Given the description of an element on the screen output the (x, y) to click on. 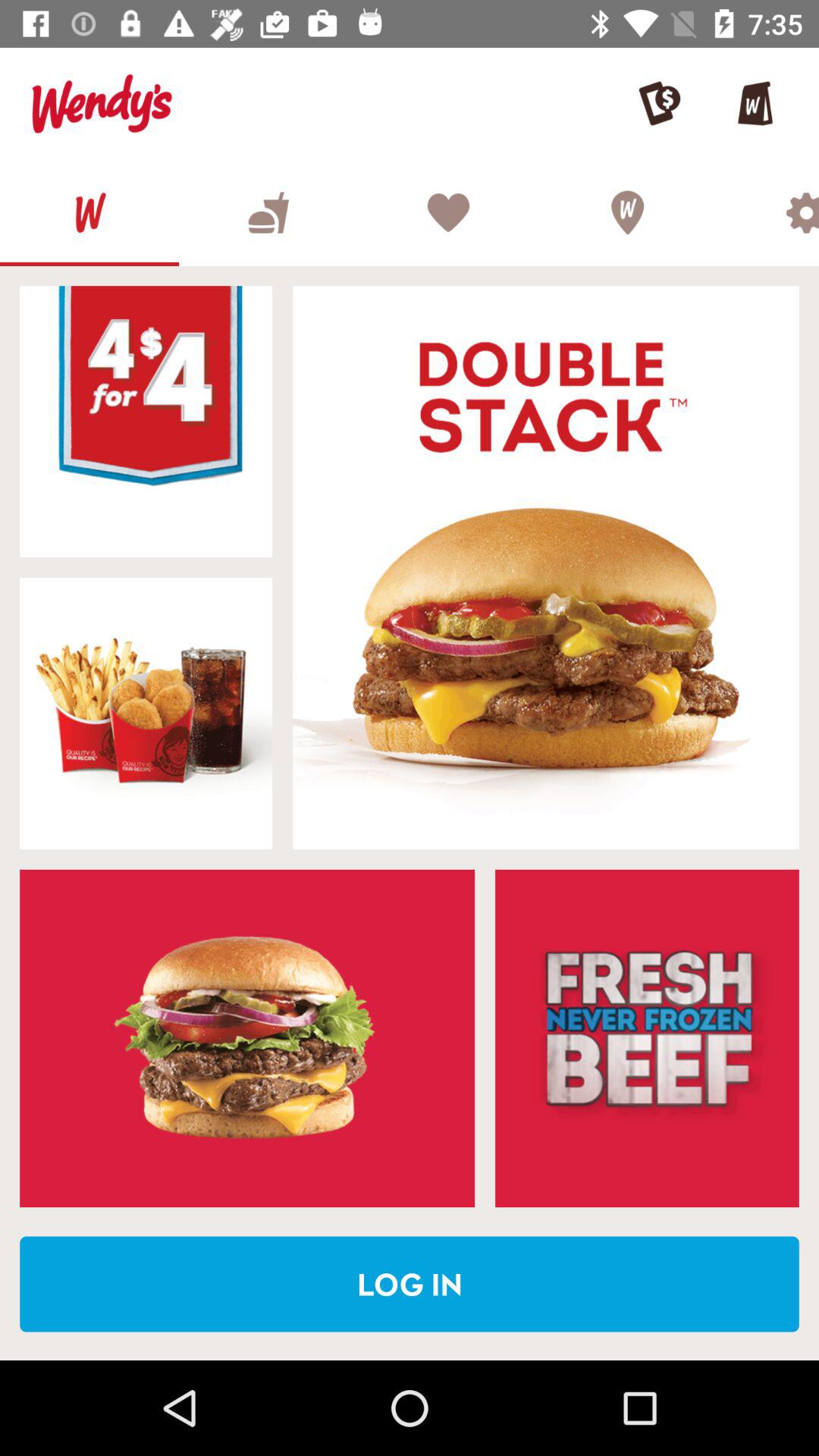
sales promo (647, 1038)
